Given the description of an element on the screen output the (x, y) to click on. 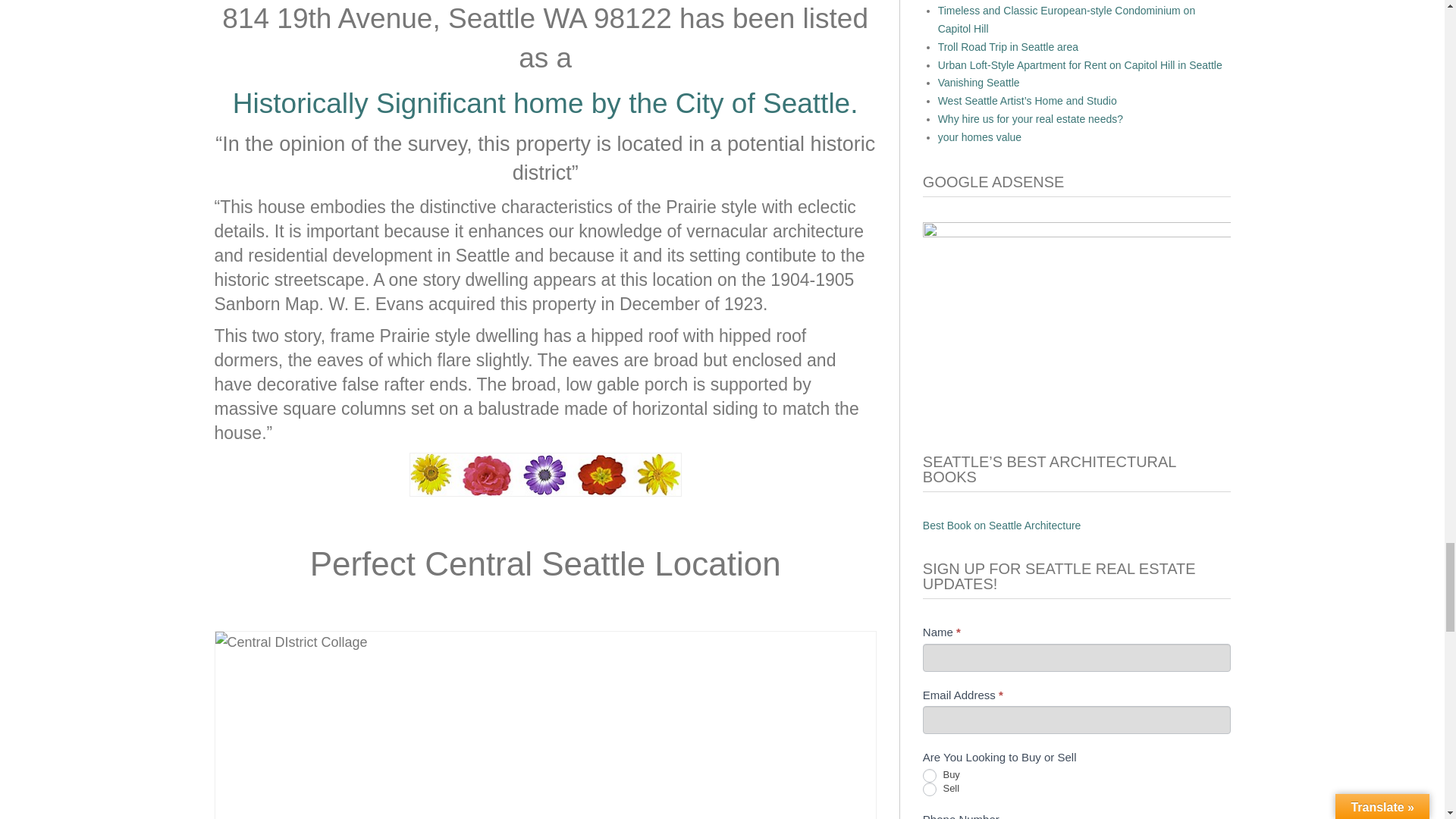
Buy (929, 775)
Sell (929, 789)
